Given the description of an element on the screen output the (x, y) to click on. 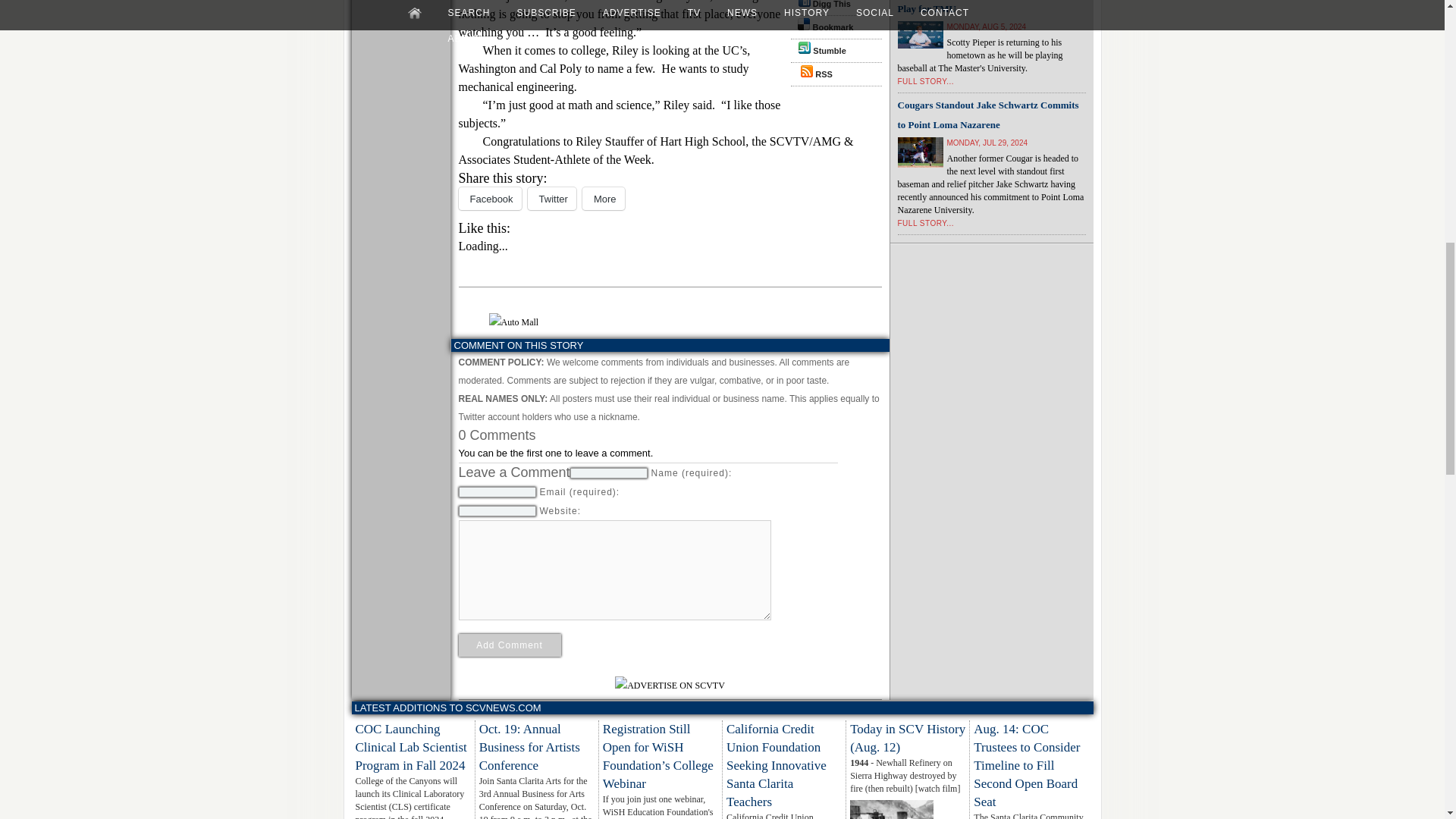
Add Comment (509, 644)
ADVERTISE ON SCVTV (669, 685)
Click to share on Facebook (489, 198)
Auto Mall (512, 321)
Click to share on Twitter (551, 198)
